Given the description of an element on the screen output the (x, y) to click on. 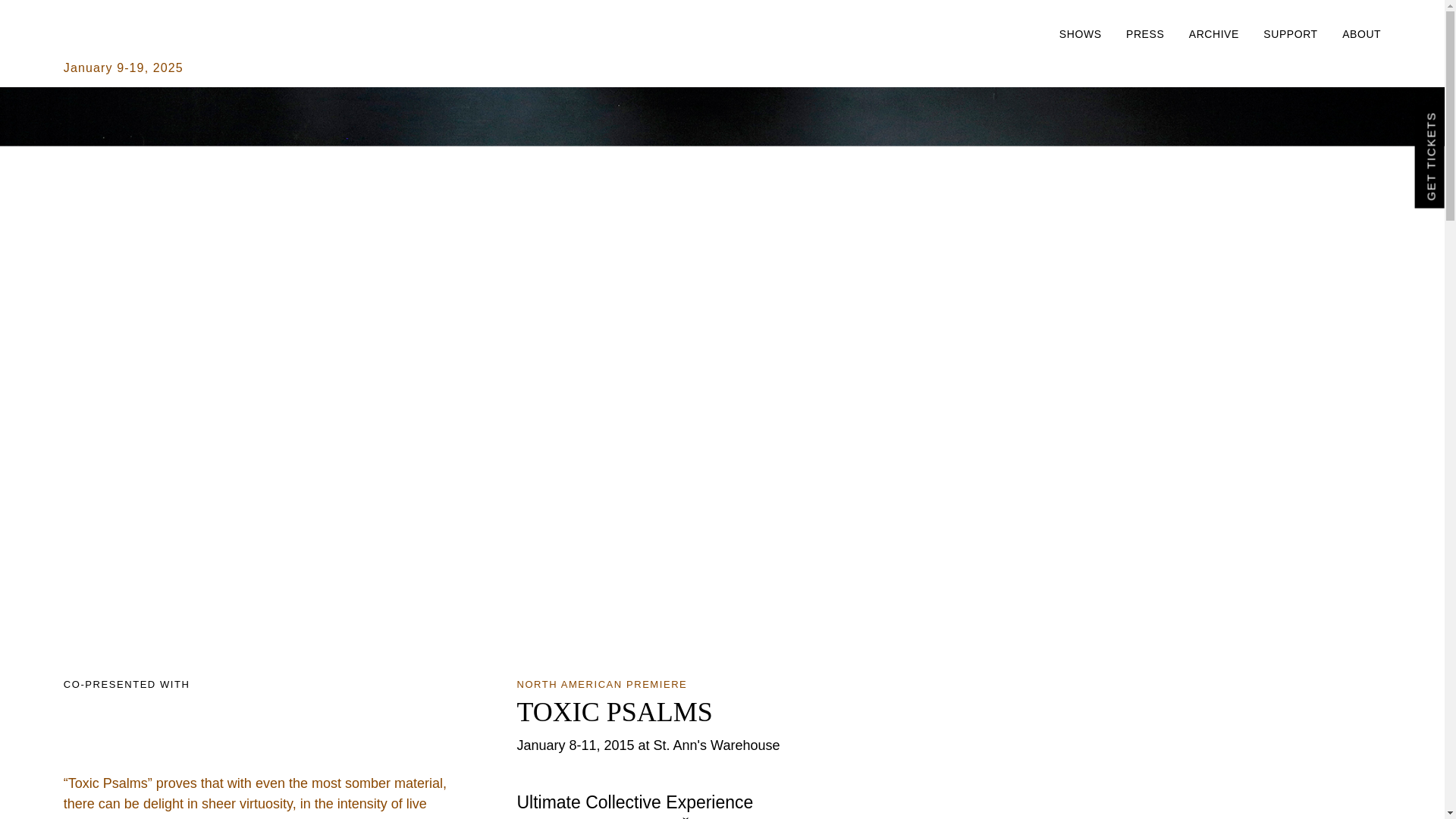
SHOWS (1070, 33)
PROTOTYPE (139, 38)
SUPPORT (1279, 33)
ARCHIVE (1203, 33)
ABOUT (1350, 33)
PRESS (1134, 33)
